Given the description of an element on the screen output the (x, y) to click on. 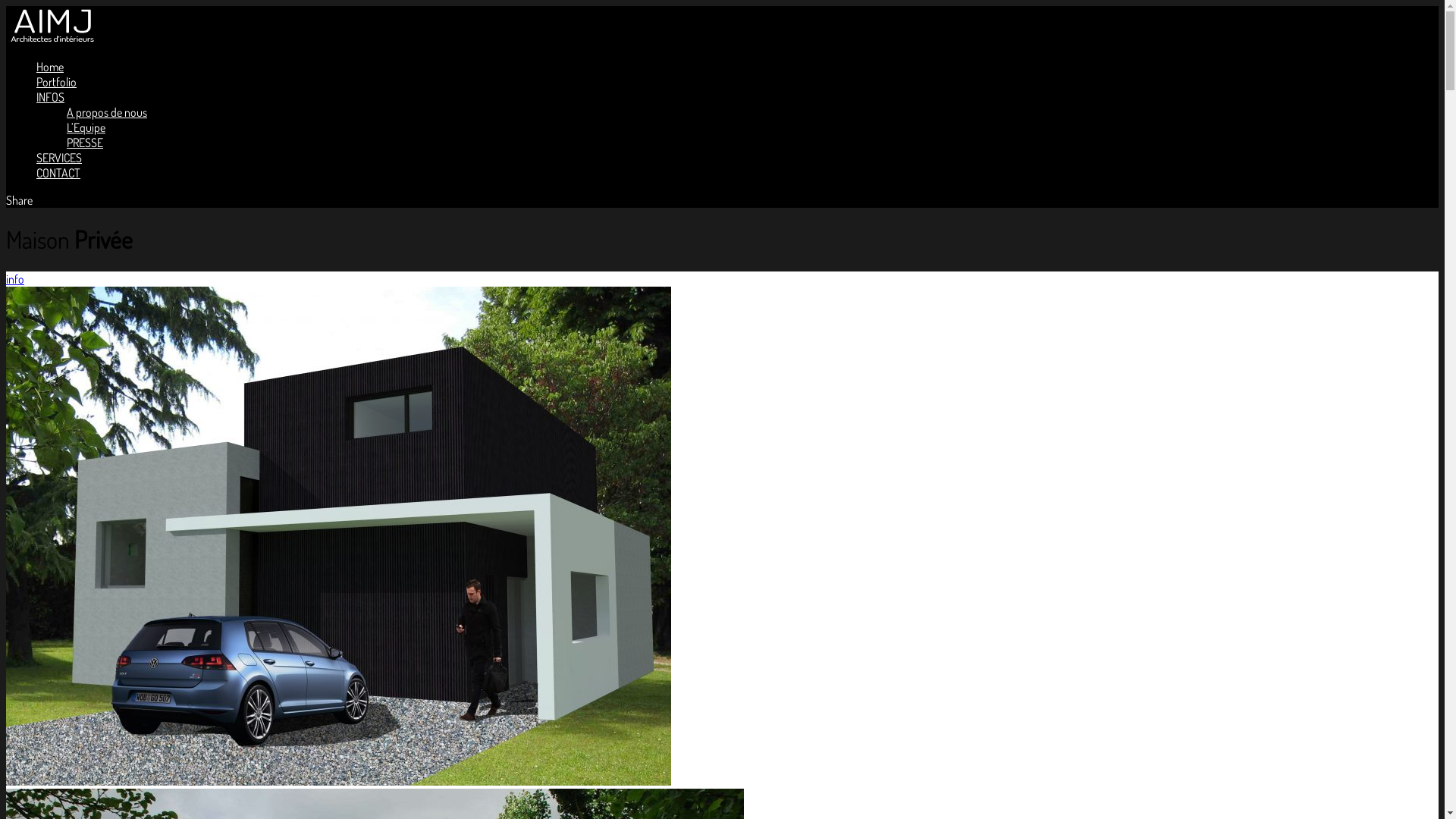
SERVICES Element type: text (58, 157)
Portfolio Element type: text (56, 81)
A propos de nous Element type: text (106, 111)
Home Element type: text (49, 66)
PRESSE Element type: text (84, 142)
CONTACT Element type: text (58, 172)
INFOS Element type: text (50, 96)
info Element type: text (15, 278)
